Given the description of an element on the screen output the (x, y) to click on. 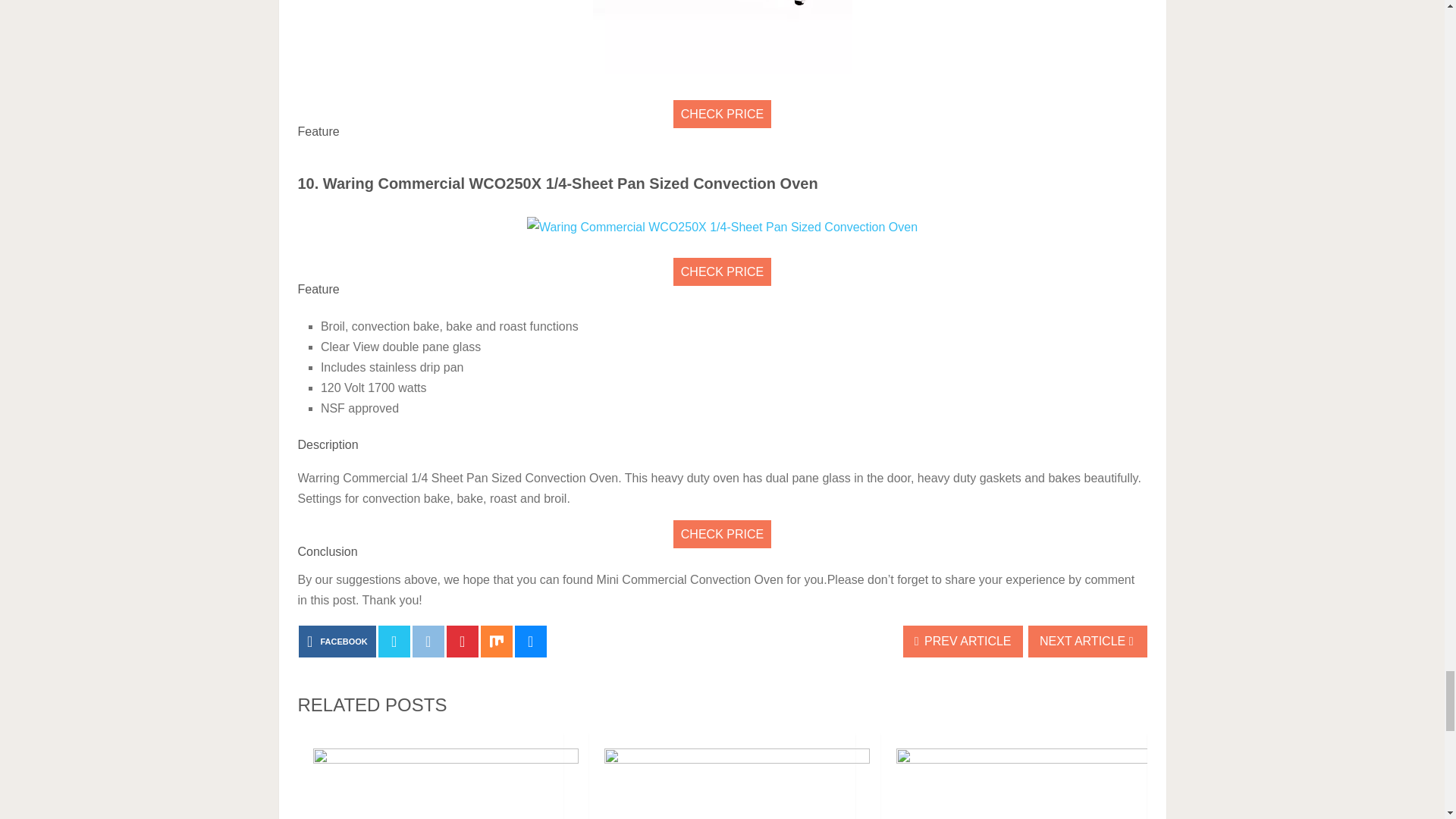
Top 9 2 Banana Plastic Furniture Bags (1013, 776)
The Best Shred A Whole Cabage Food Processor (722, 776)
Top 10 Neveras Black And Decker (430, 776)
